Given the description of an element on the screen output the (x, y) to click on. 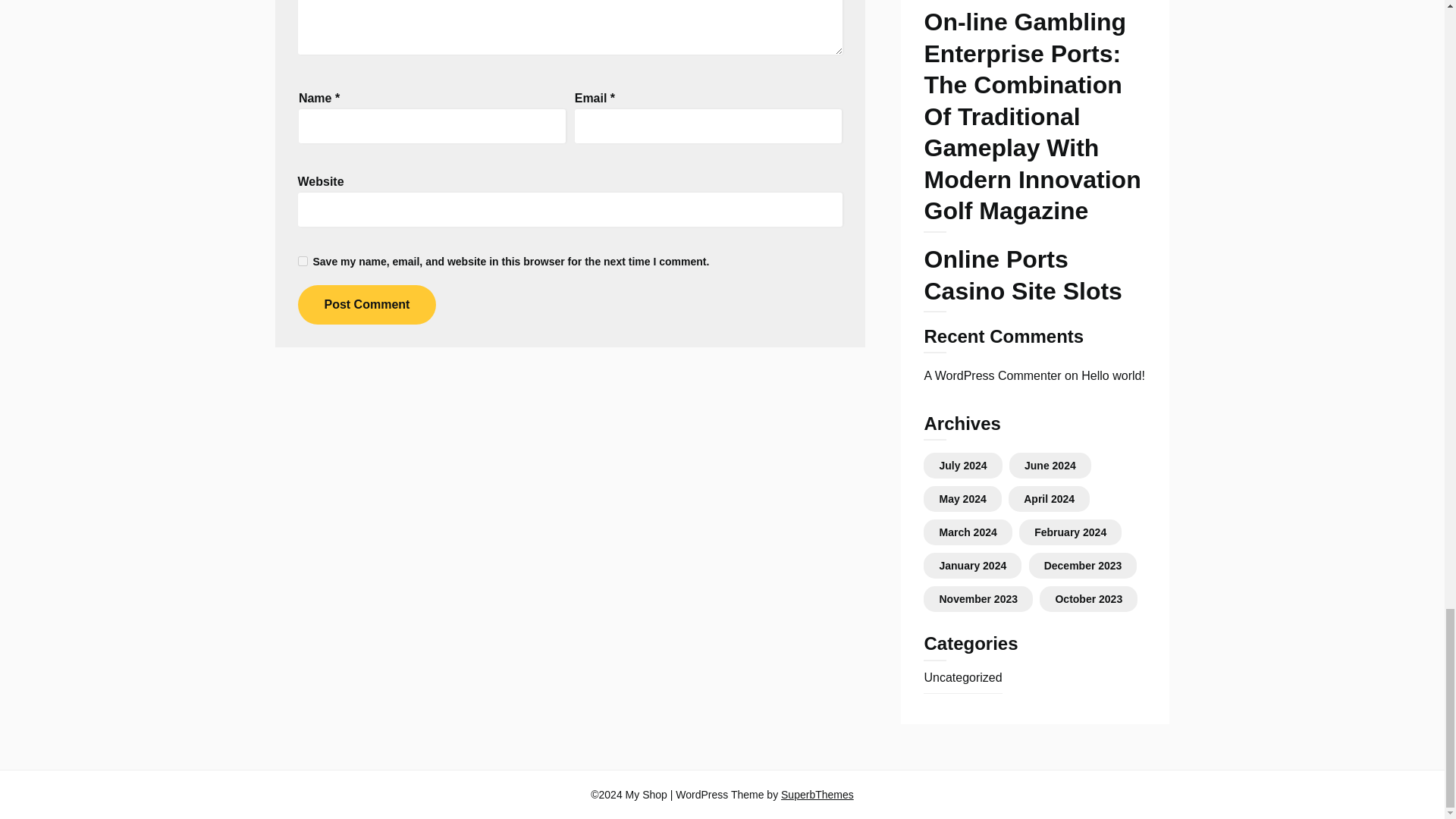
yes (302, 261)
Post Comment (366, 304)
Post Comment (366, 304)
